Given the description of an element on the screen output the (x, y) to click on. 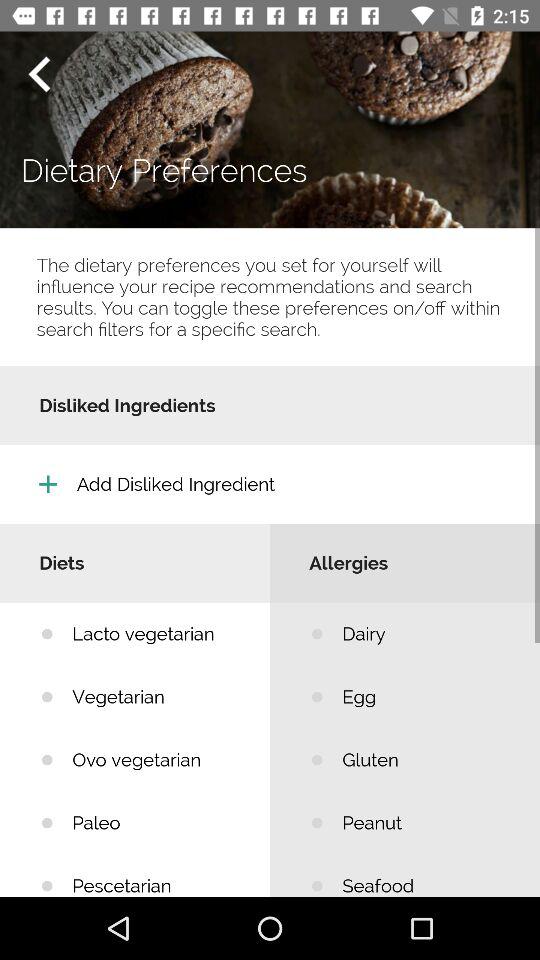
open the item to the right of the diets icon (426, 633)
